Given the description of an element on the screen output the (x, y) to click on. 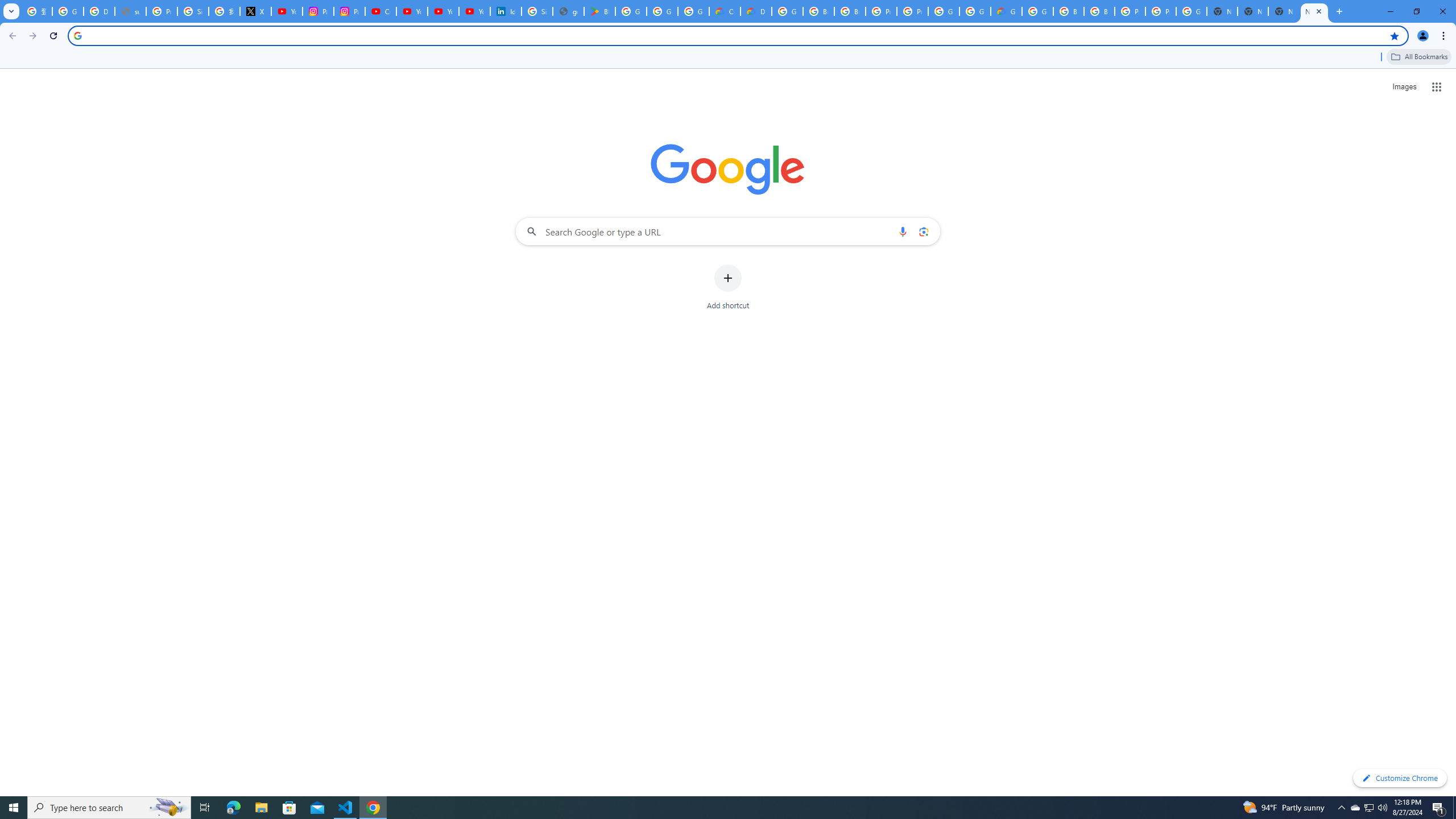
Sign in - Google Accounts (192, 11)
Google Cloud Platform (787, 11)
support.google.com - Network error (130, 11)
YouTube Culture & Trends - YouTube Top 10, 2021 (474, 11)
